Given the description of an element on the screen output the (x, y) to click on. 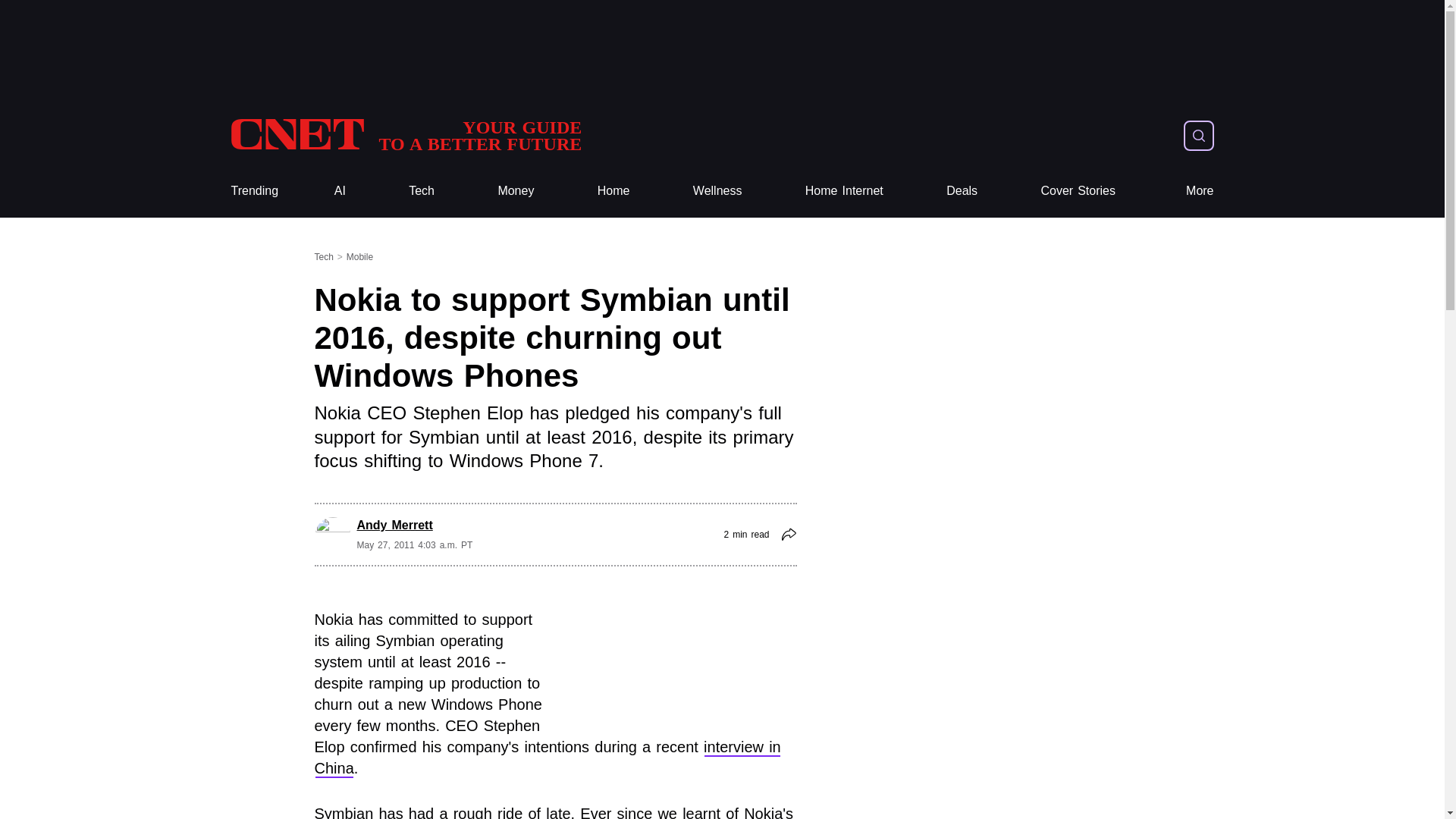
Home (613, 190)
Tech (421, 190)
Wellness (405, 135)
Trending (717, 190)
Money (254, 190)
More (515, 190)
Home Internet (1199, 190)
Tech (844, 190)
Home (421, 190)
